Given the description of an element on the screen output the (x, y) to click on. 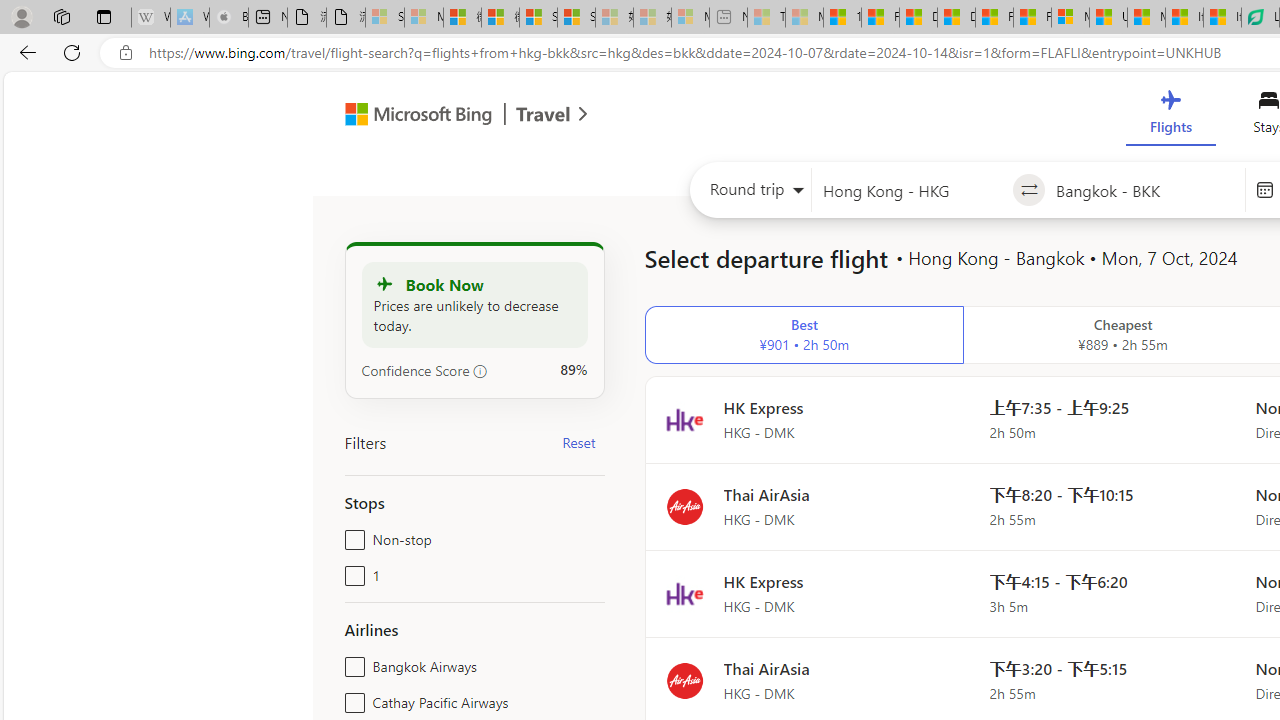
US Heat Deaths Soared To Record High Last Year (1108, 17)
